Given the description of an element on the screen output the (x, y) to click on. 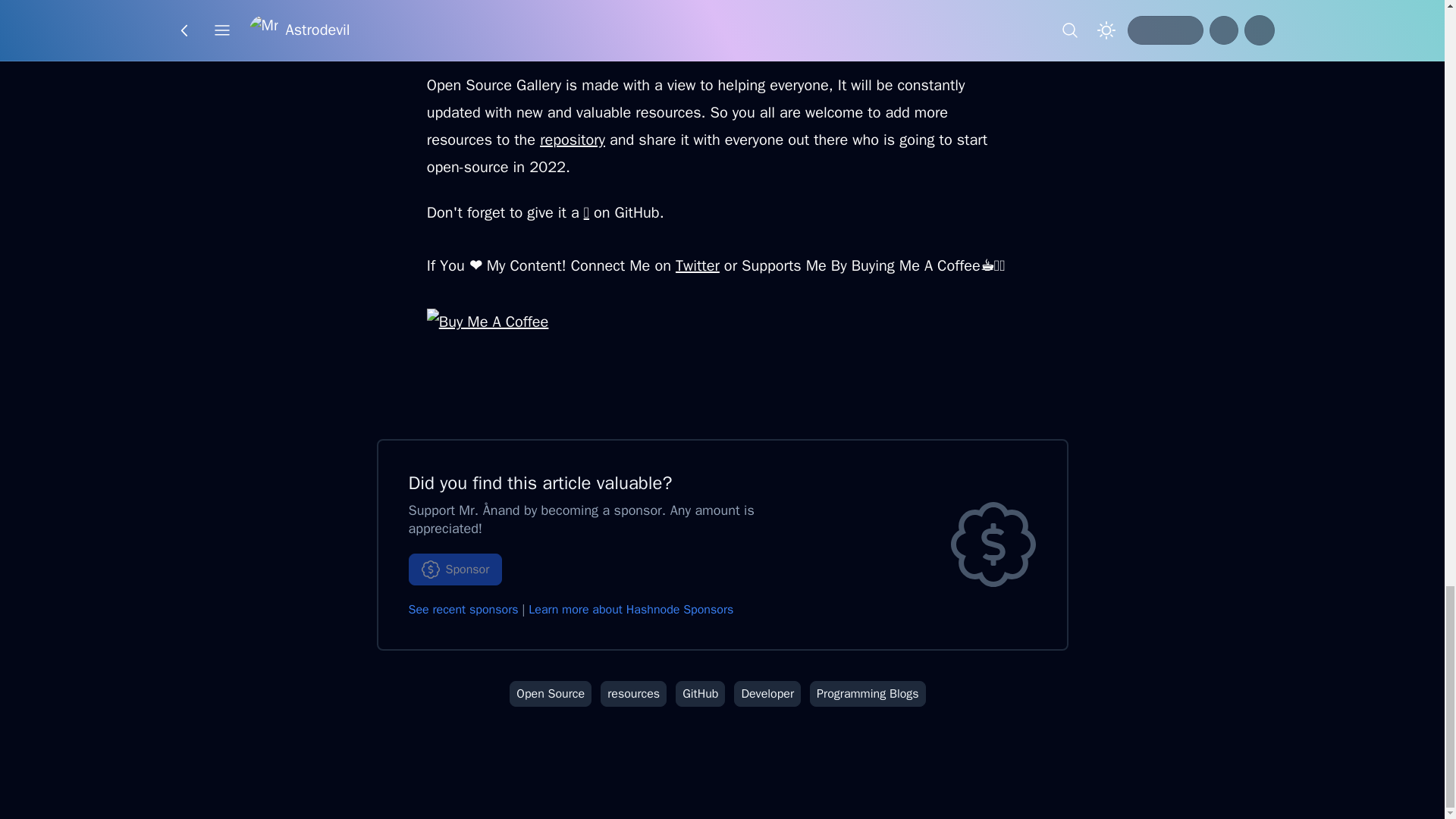
See recent sponsors (462, 609)
repository (572, 139)
Twitter (697, 265)
Sponsor (454, 569)
Developer (766, 693)
GitHub (700, 693)
Programming Blogs (867, 693)
Learn more about Hashnode Sponsors (630, 609)
Open Source (550, 693)
resources (632, 693)
